Given the description of an element on the screen output the (x, y) to click on. 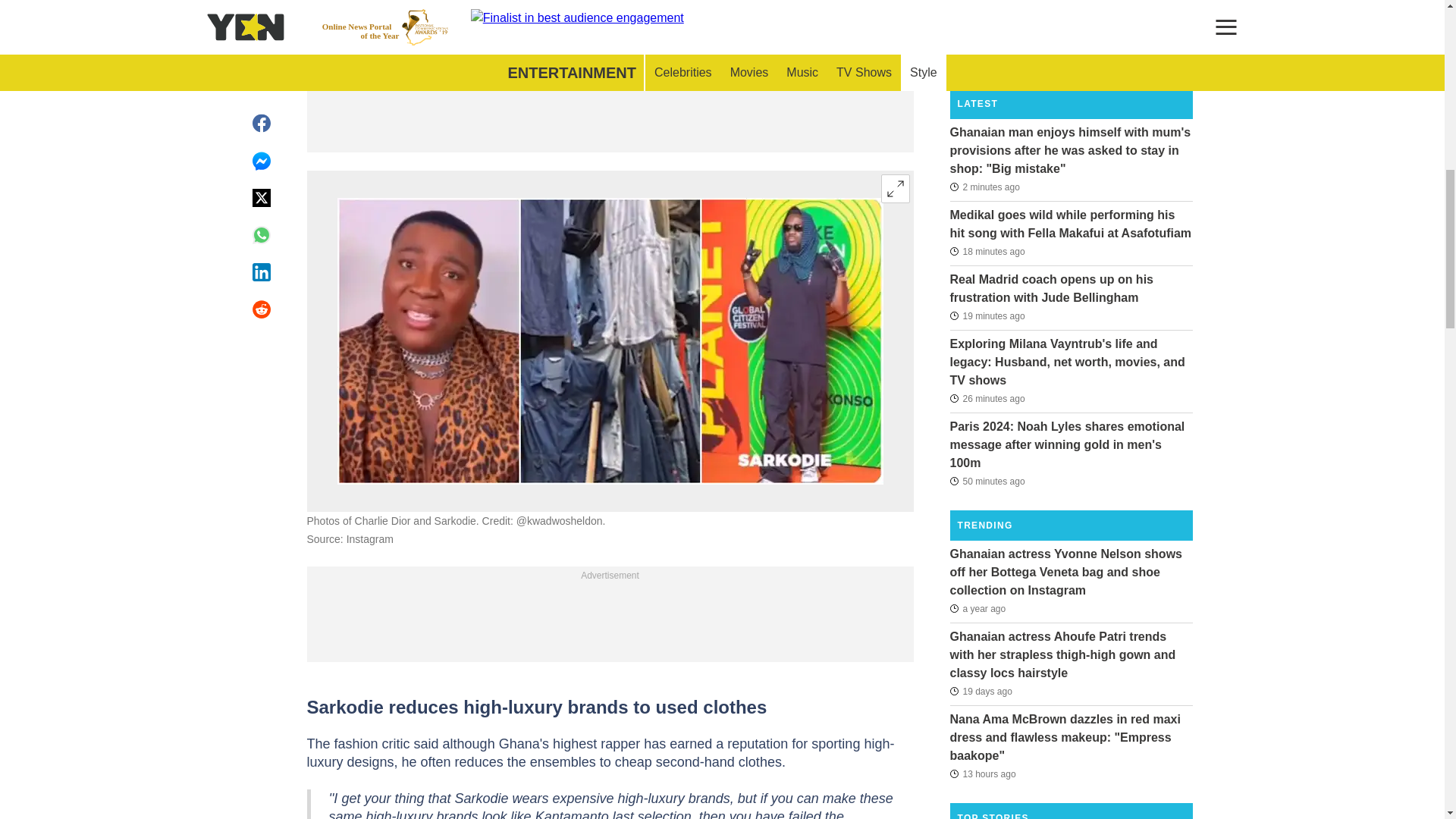
2024-08-05T07:13:43Z (987, 251)
2024-08-05T07:12:31Z (987, 315)
2024-08-05T07:05:07Z (987, 398)
2024-08-04T18:22:47Z (981, 773)
2024-07-16T13:22:22Z (980, 691)
Expand image (895, 188)
2023-01-19T19:39:40Z (977, 607)
2024-08-05T07:29:18Z (984, 186)
2024-08-05T06:41:38Z (987, 480)
